Given the description of an element on the screen output the (x, y) to click on. 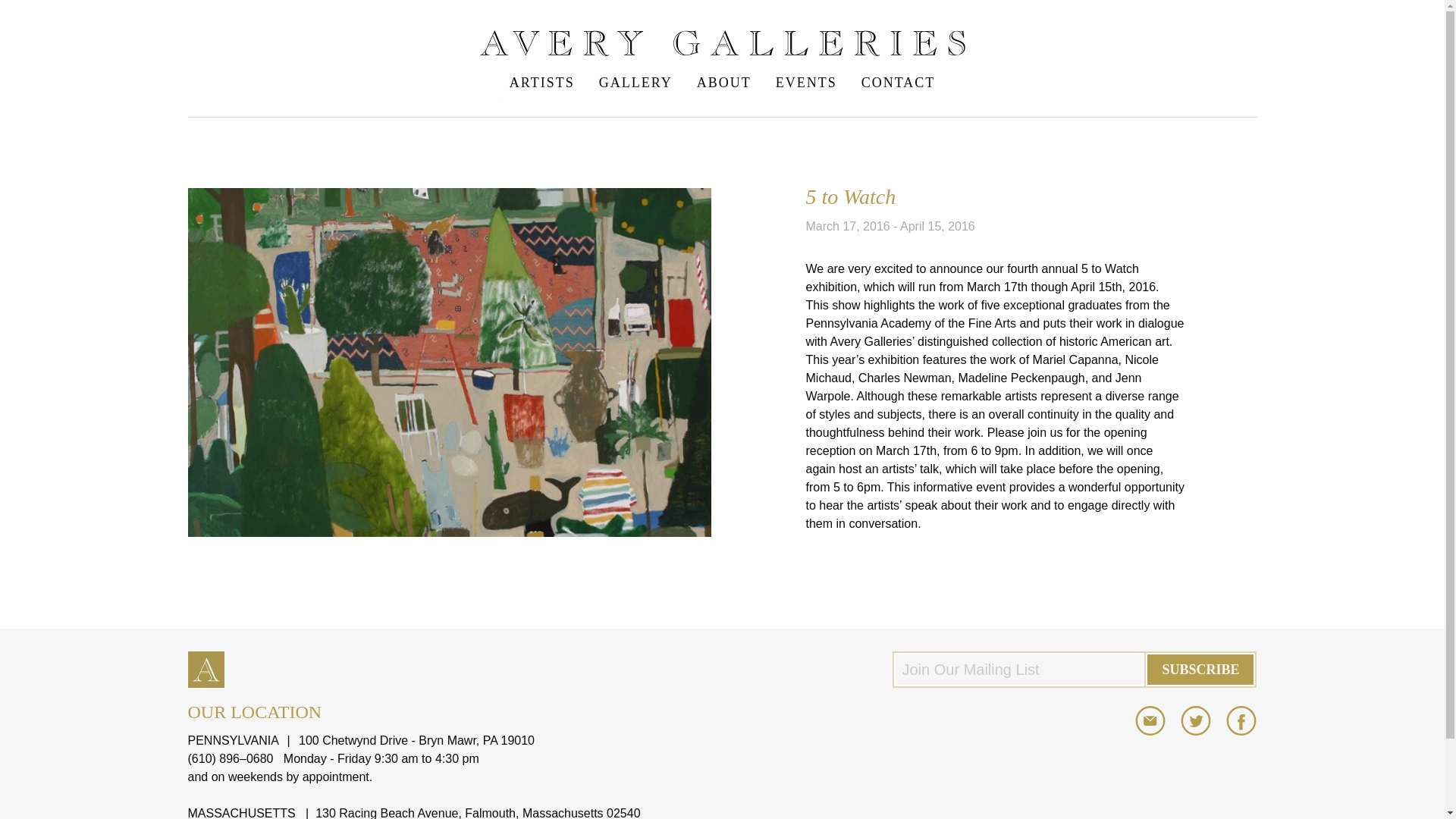
EVENTS (805, 82)
CONTACT (897, 82)
ABOUT (723, 82)
ARTISTS (541, 82)
GALLERY (635, 82)
Subscribe (1200, 669)
Subscribe (1200, 669)
